Given the description of an element on the screen output the (x, y) to click on. 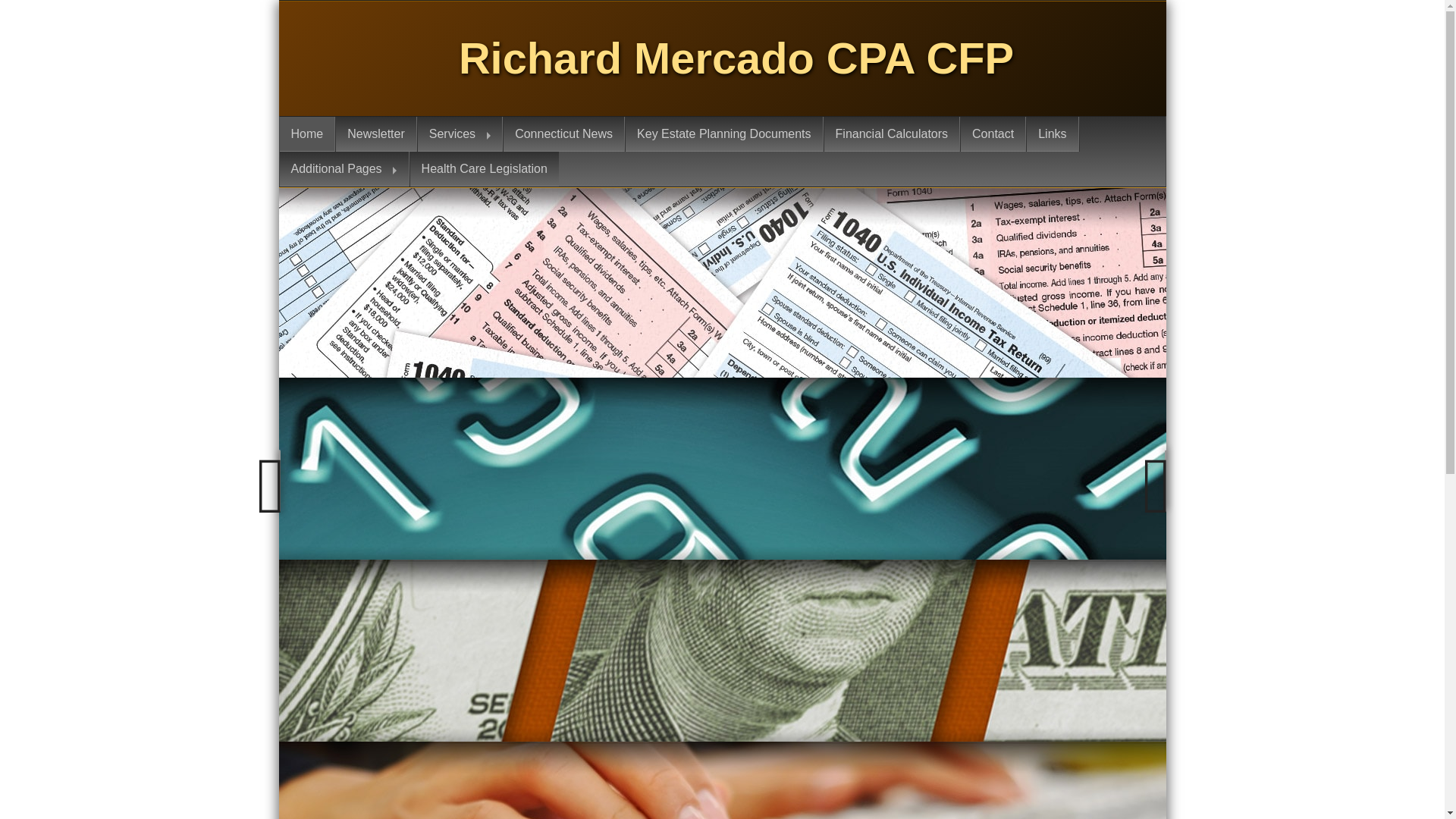
Richard Mercado CPA CFP (735, 58)
Financial Calculators (892, 134)
Connecticut News (563, 134)
Contact (993, 134)
Home (306, 134)
Links (1052, 134)
Services (459, 134)
Richard Mercado CPA CFP (735, 58)
Health Care Legislation (484, 168)
Additional Pages (344, 168)
